Given the description of an element on the screen output the (x, y) to click on. 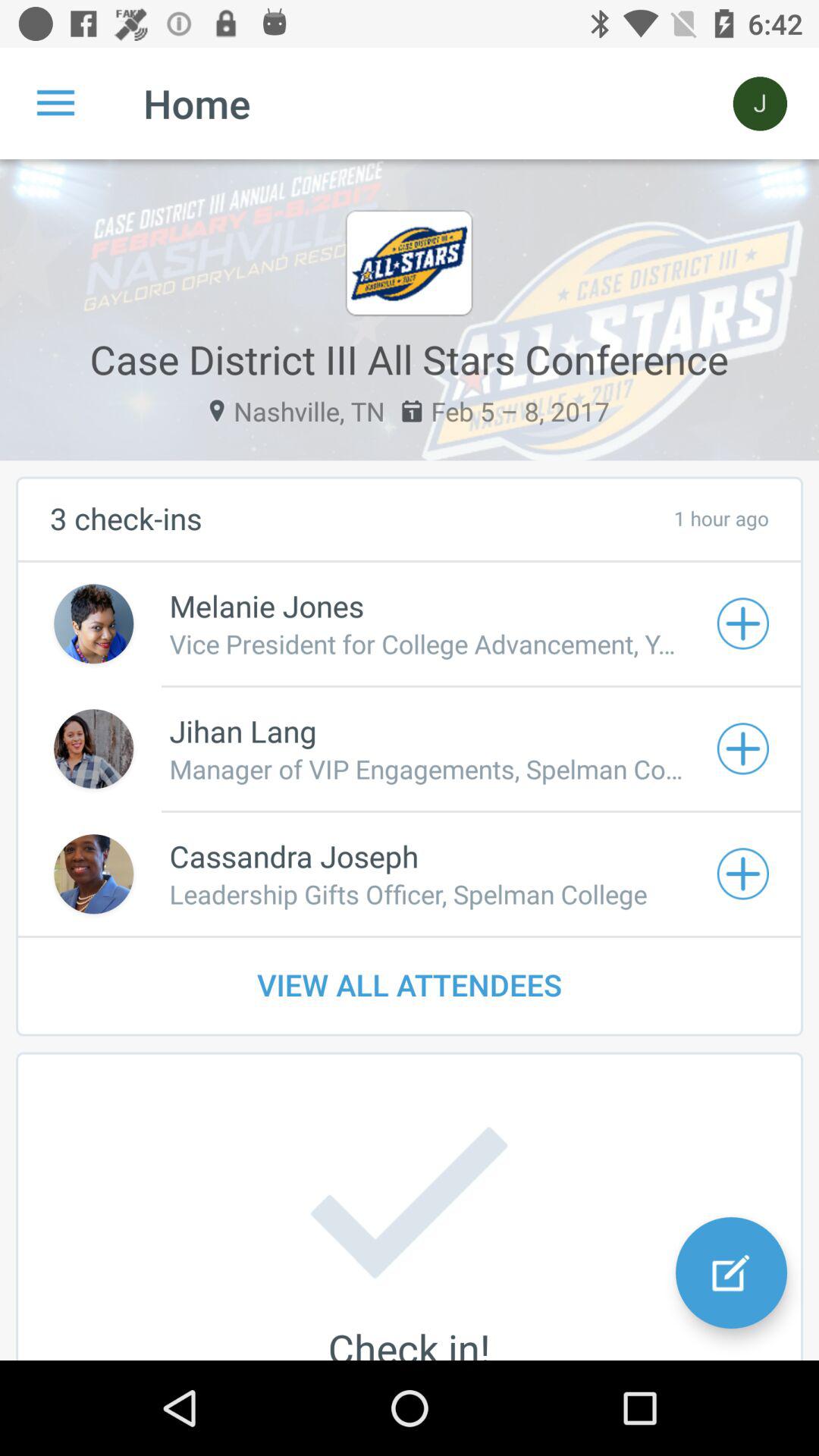
turn on item at the top right corner (760, 103)
